Given the description of an element on the screen output the (x, y) to click on. 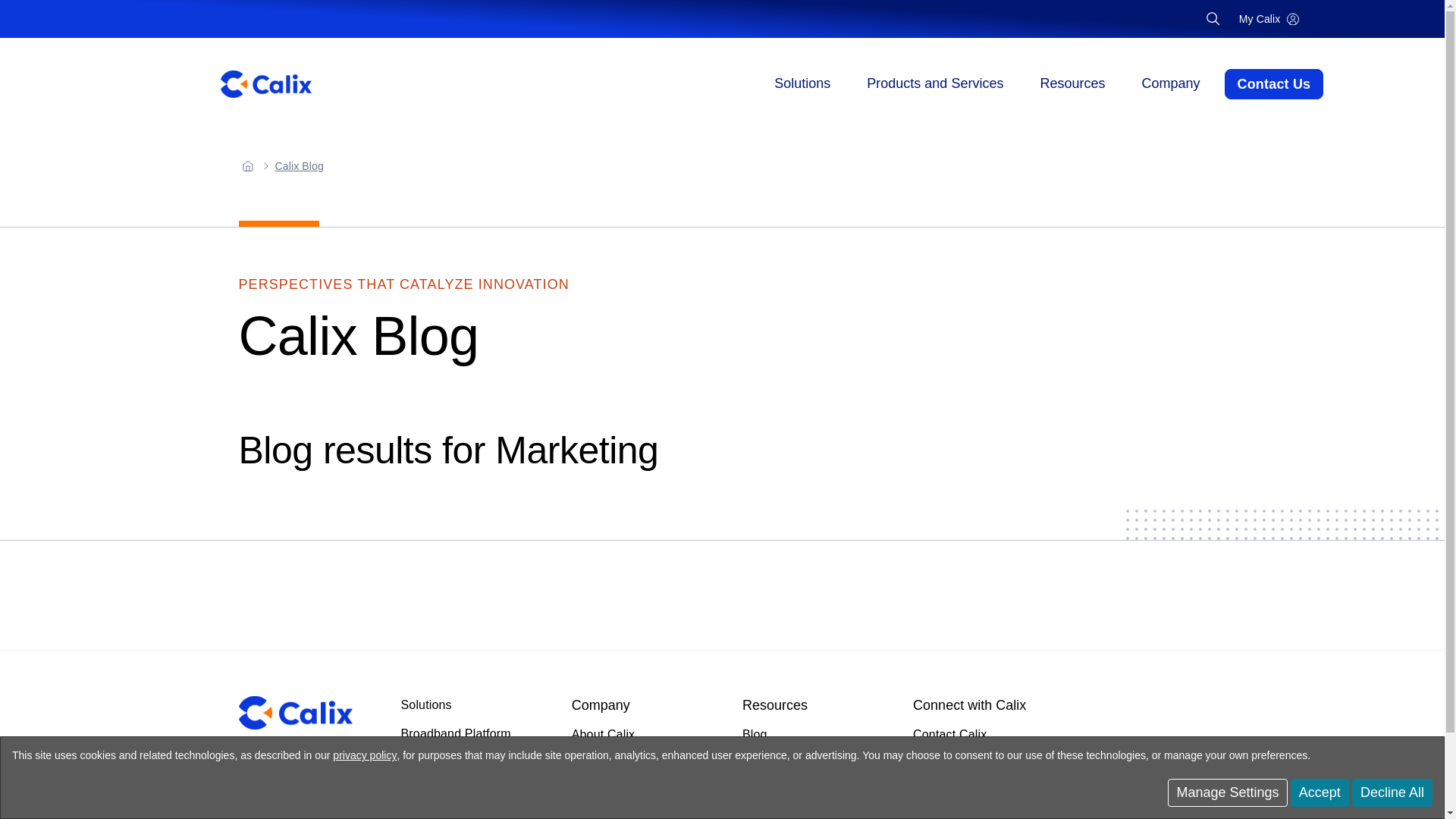
Products and Services (934, 83)
My Calix (1268, 18)
calix.png (295, 713)
Solutions (801, 83)
